Given the description of an element on the screen output the (x, y) to click on. 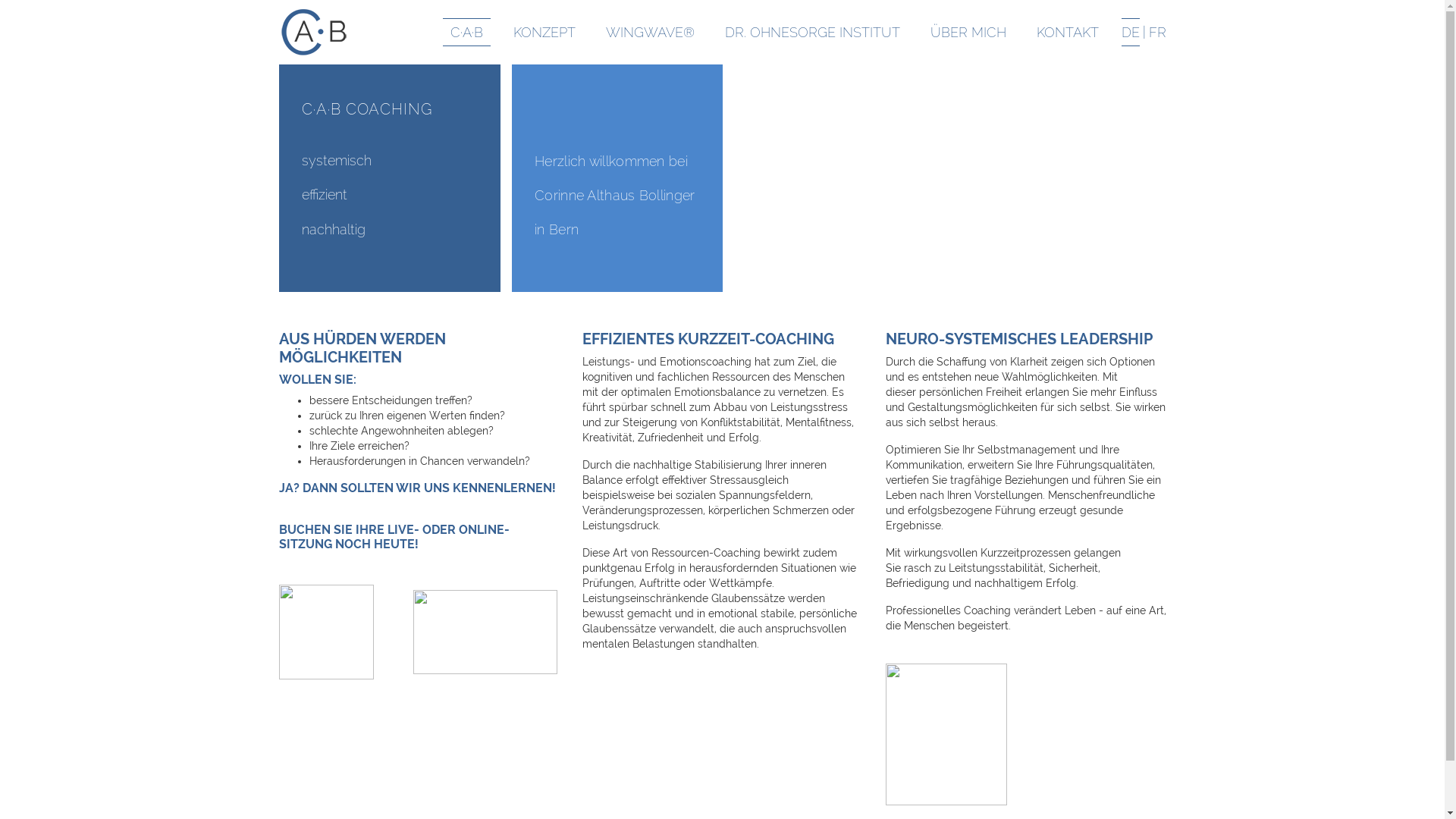
FR Element type: text (1156, 32)
KONTAKT Element type: text (1066, 32)
DR. OHNESORGE INSTITUT Element type: text (812, 32)
DE Element type: text (1129, 32)
KONZEPT Element type: text (543, 32)
